Given the description of an element on the screen output the (x, y) to click on. 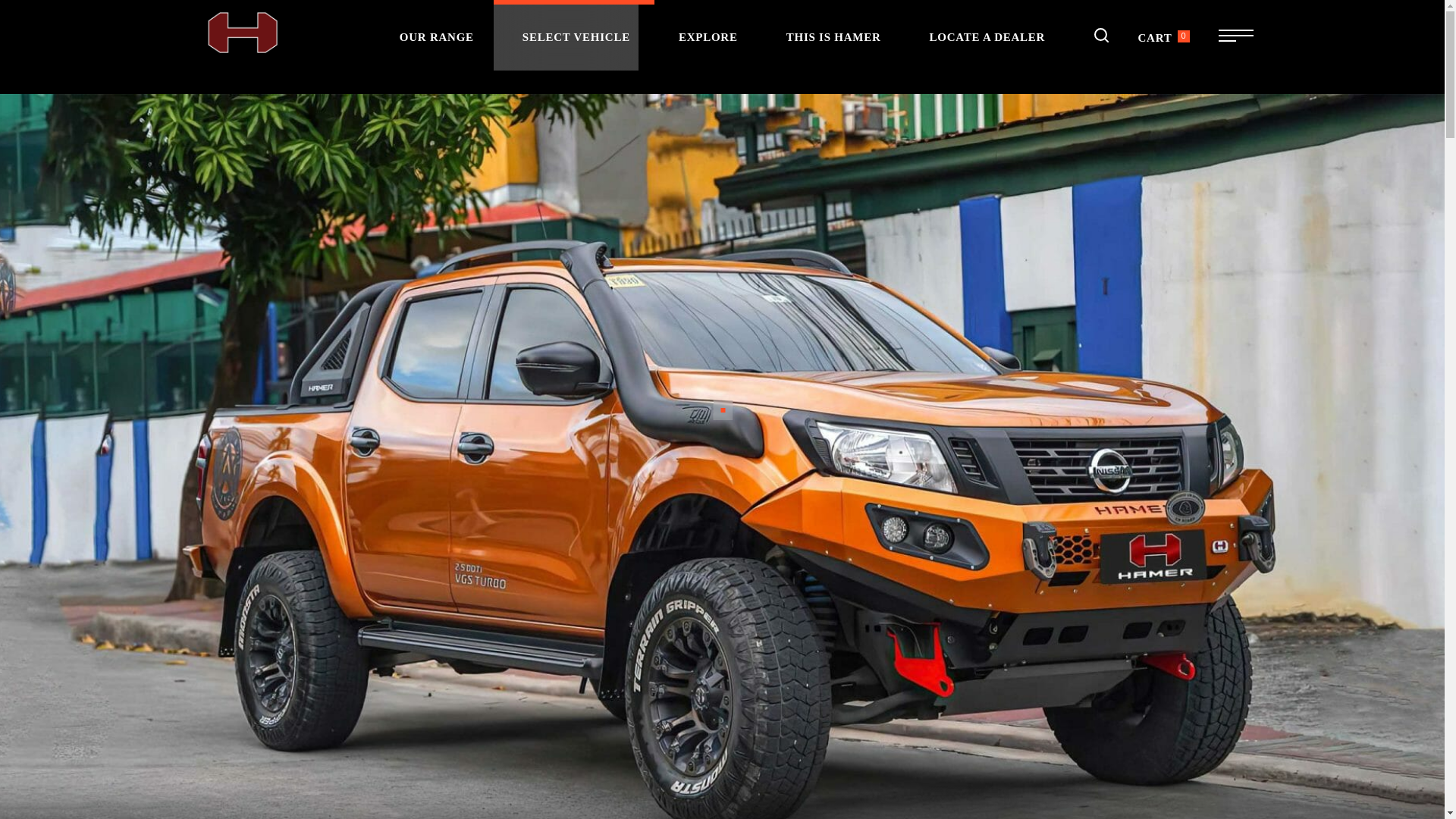
SELECT VEHICLE (576, 35)
OUR RANGE (436, 35)
